Given the description of an element on the screen output the (x, y) to click on. 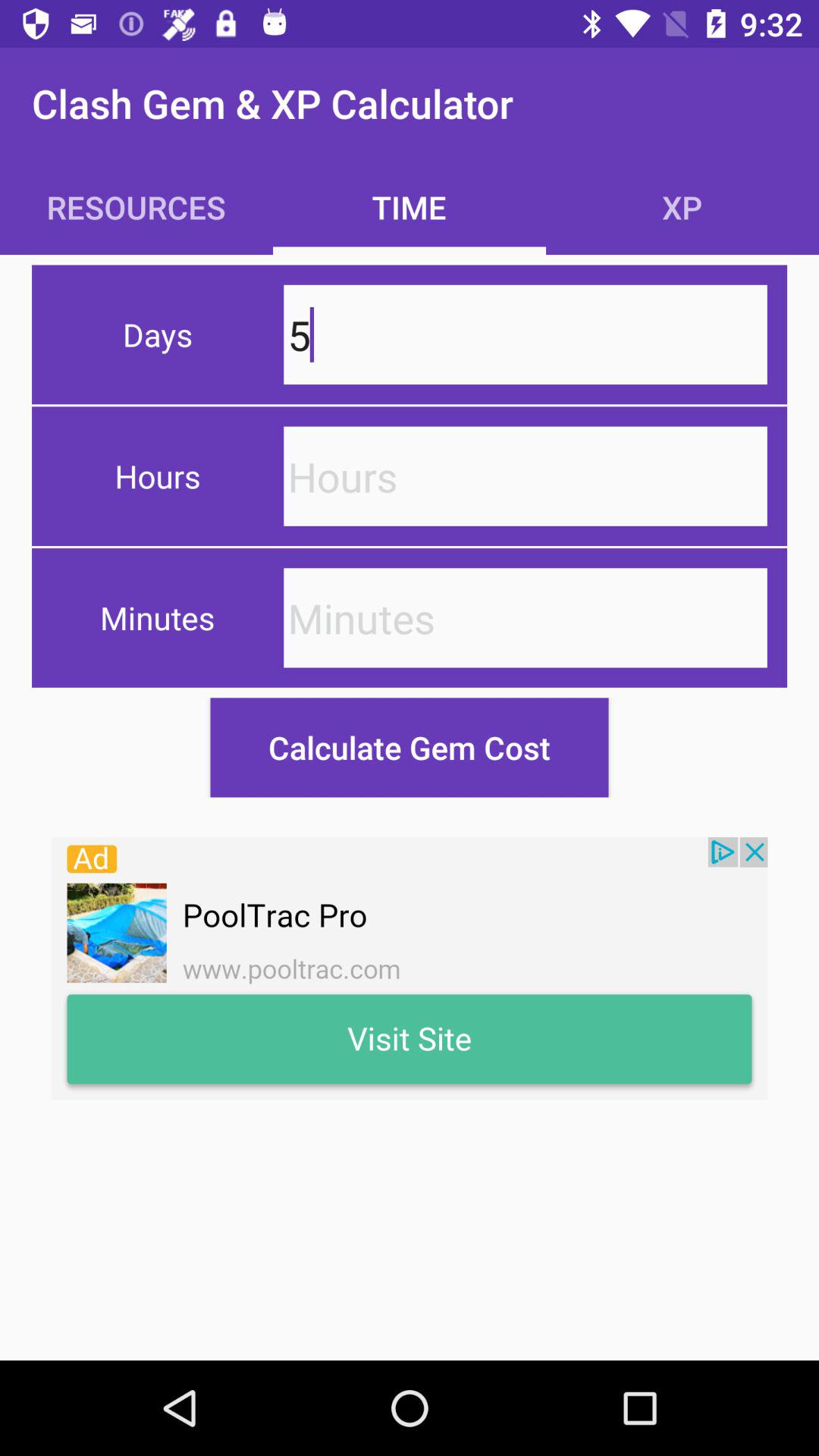
minutes textbox (525, 617)
